Given the description of an element on the screen output the (x, y) to click on. 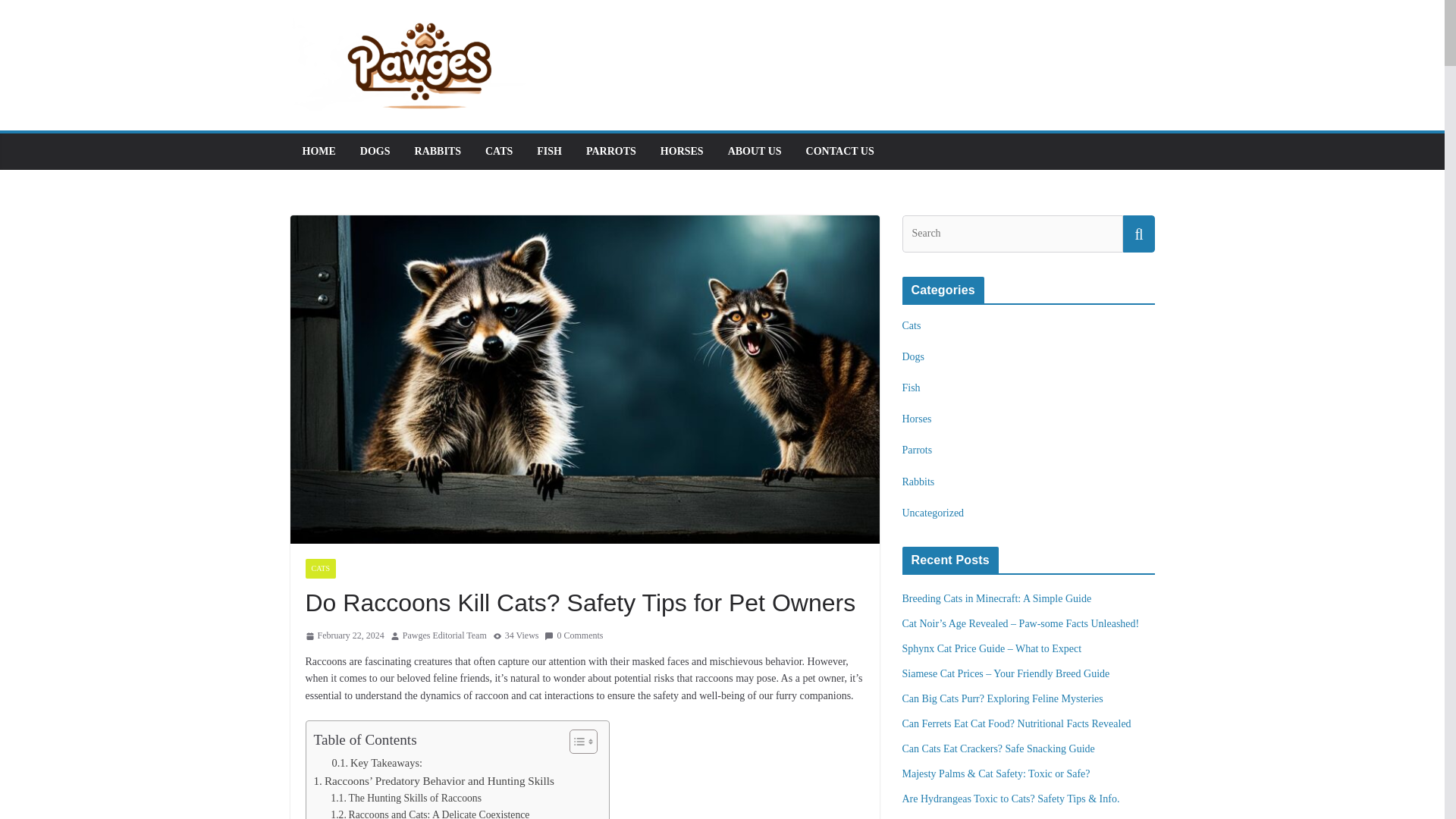
Key Takeaways: (377, 763)
The Hunting Skills of Raccoons (405, 798)
RABBITS (437, 151)
CATS (498, 151)
9:15 am (344, 636)
HOME (317, 151)
Pawges Editorial Team (444, 636)
DOGS (374, 151)
Raccoons and Cats: A Delicate Coexistence (429, 812)
Pawges Editorial Team (444, 636)
February 22, 2024 (344, 636)
Raccoons and Cats: A Delicate Coexistence (429, 812)
0 Comments (573, 636)
The Hunting Skills of Raccoons (405, 798)
PARROTS (611, 151)
